Given the description of an element on the screen output the (x, y) to click on. 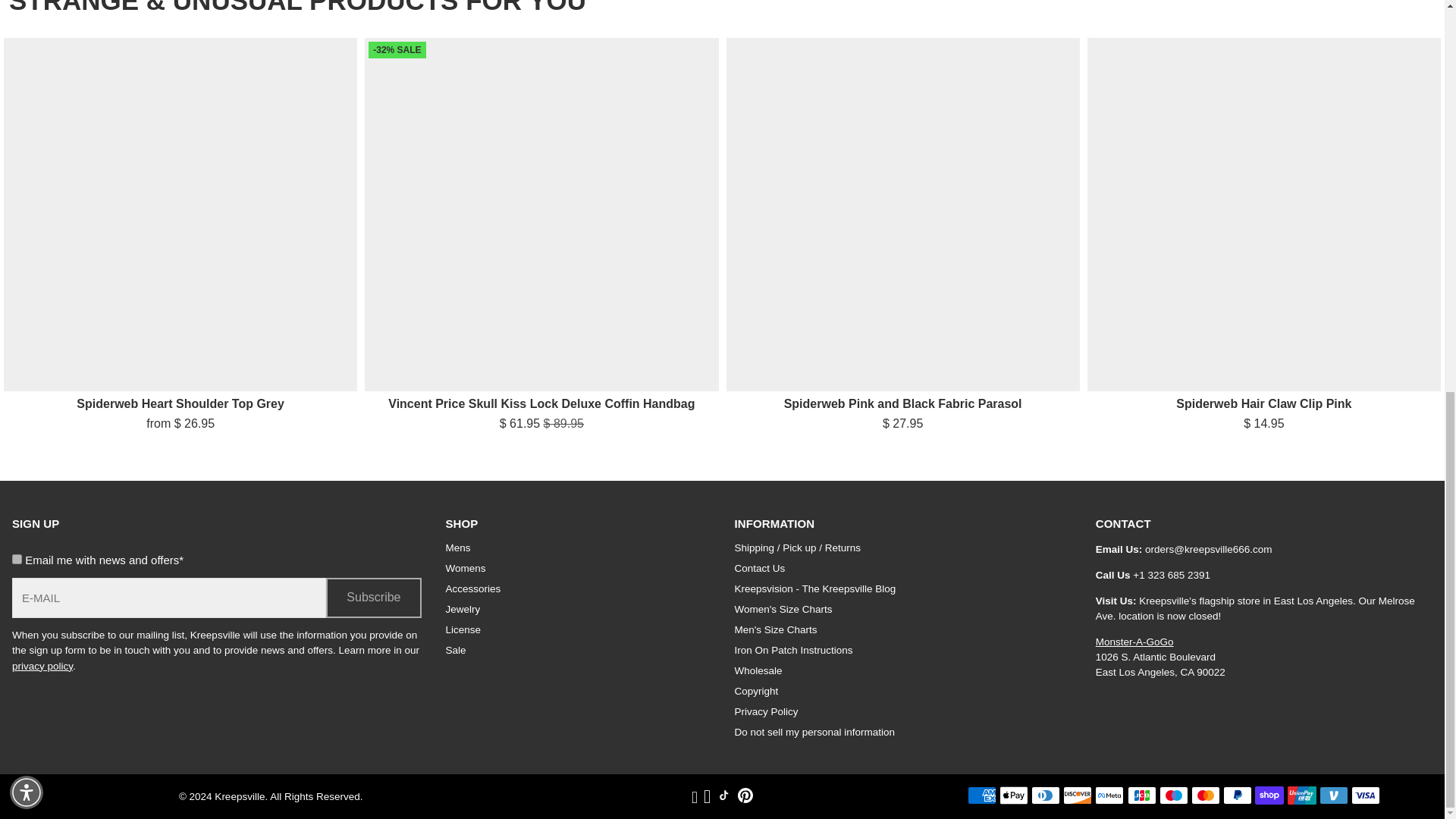
Meta Pay (1109, 795)
Visa (1365, 795)
PayPal (1237, 795)
Apple Pay (1012, 795)
Union Pay (1301, 795)
Mastercard (1205, 795)
American Express (981, 795)
on (16, 559)
Shop Pay (1269, 795)
Accessibility Menu (26, 40)
